Given the description of an element on the screen output the (x, y) to click on. 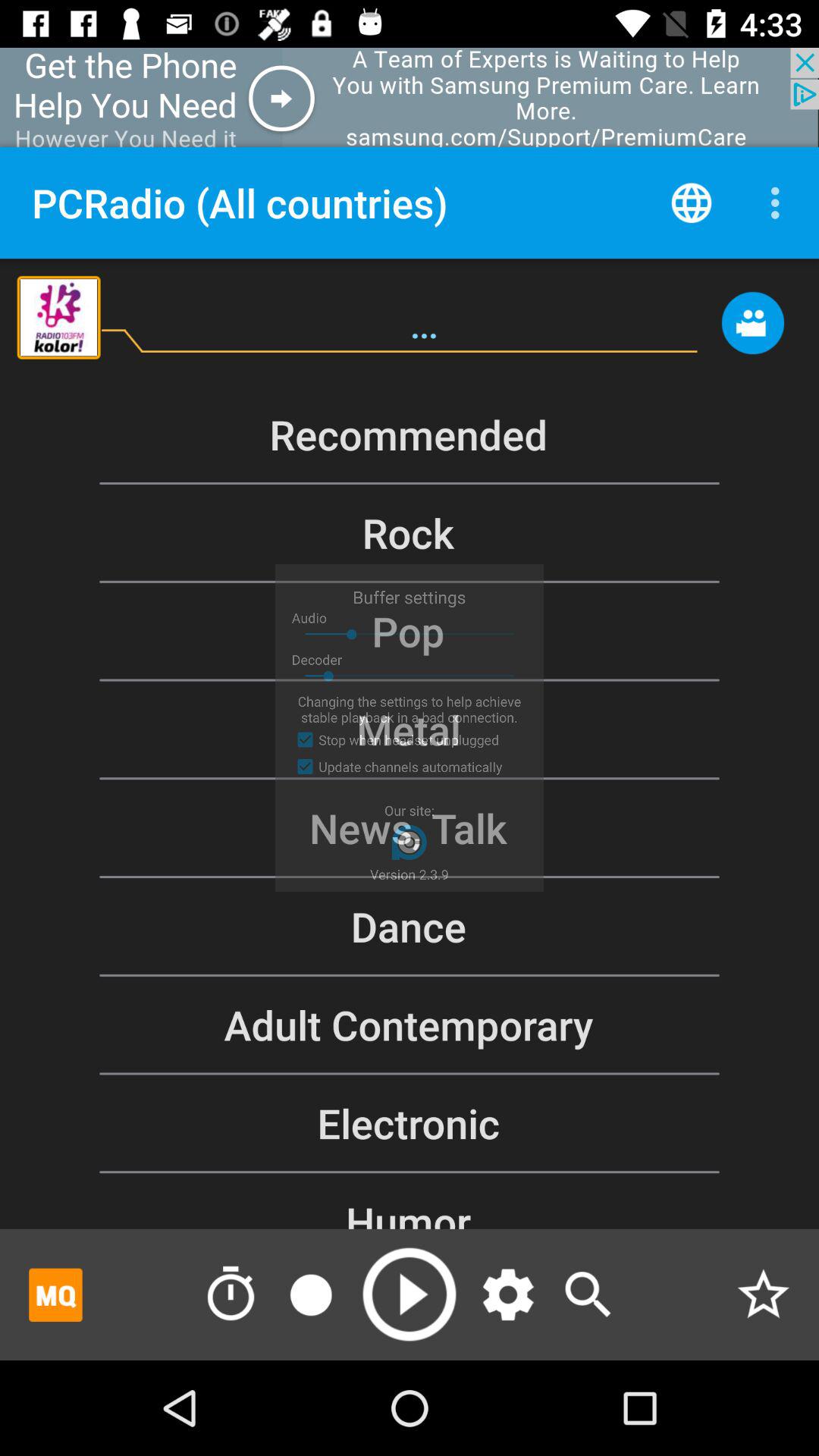
timing (230, 1294)
